Given the description of an element on the screen output the (x, y) to click on. 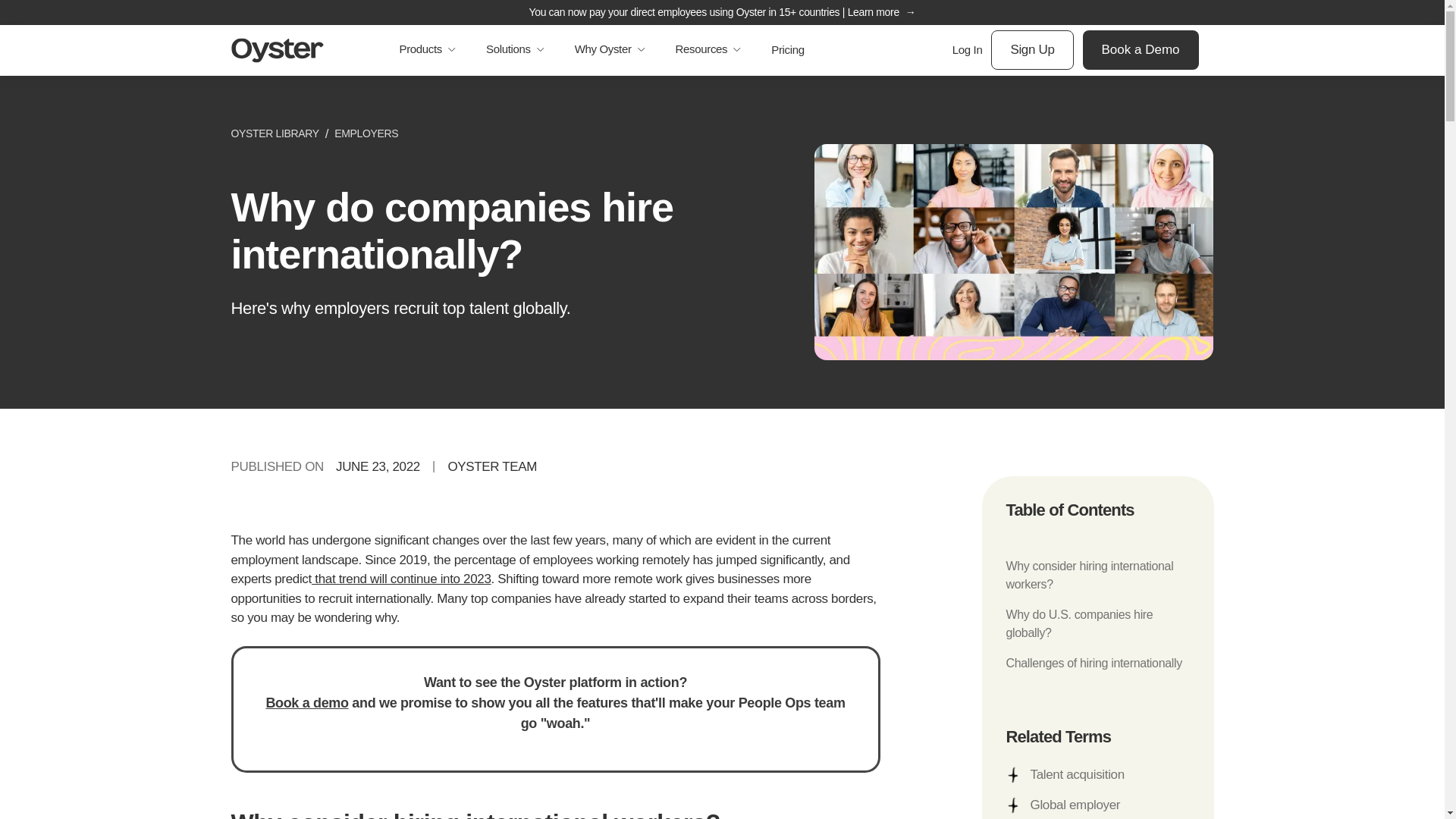
Book a Demo (1140, 49)
Book a demo (305, 702)
EMPLOYERS (365, 133)
that trend will continue into 2023 (401, 578)
Sign Up (1032, 49)
OYSTER LIBRARY (274, 133)
